Given the description of an element on the screen output the (x, y) to click on. 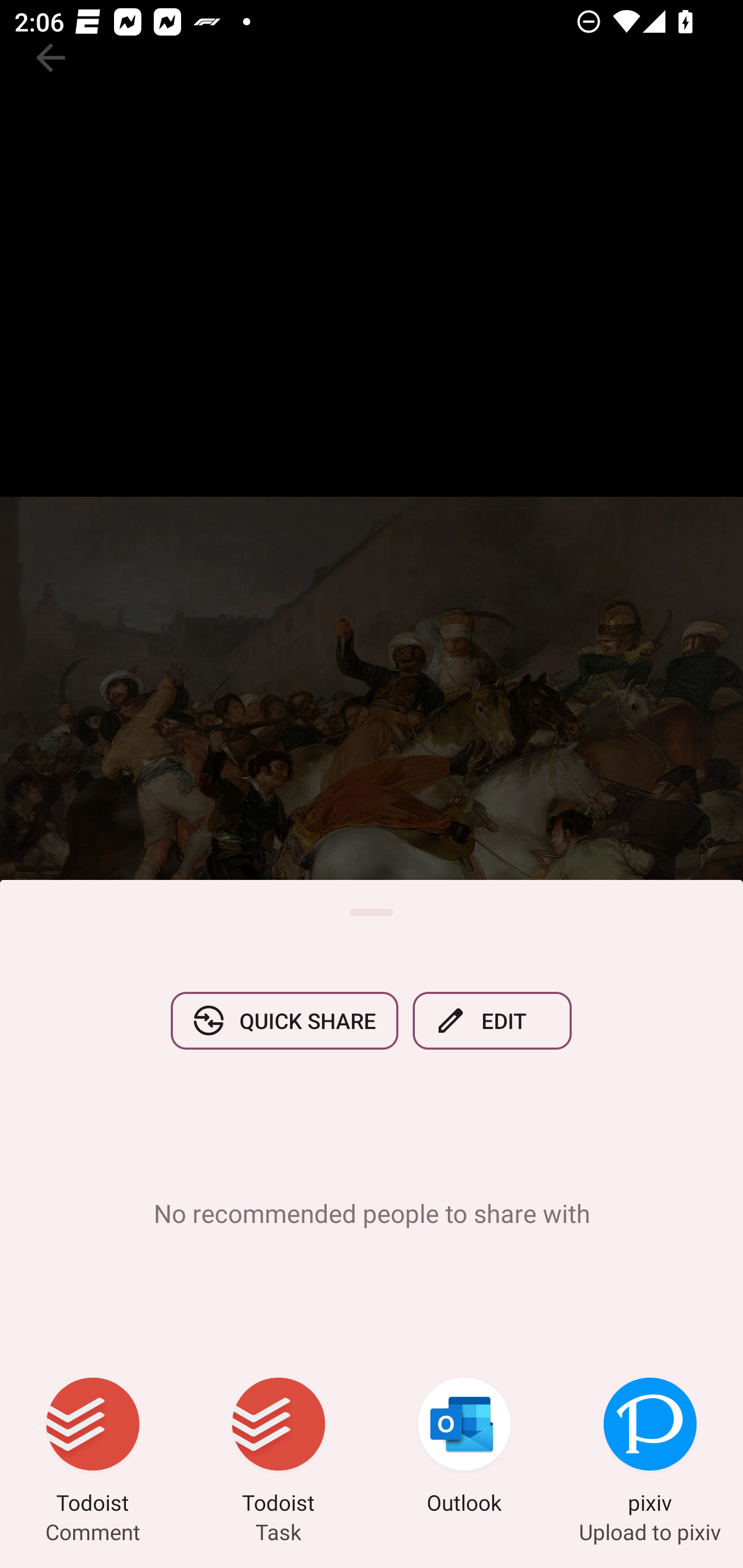
QUICK SHARE (284, 1020)
EDIT (492, 1020)
Todoist Comment (92, 1448)
Todoist Task (278, 1448)
Outlook (464, 1448)
pixiv Upload to pixiv (650, 1448)
